Given the description of an element on the screen output the (x, y) to click on. 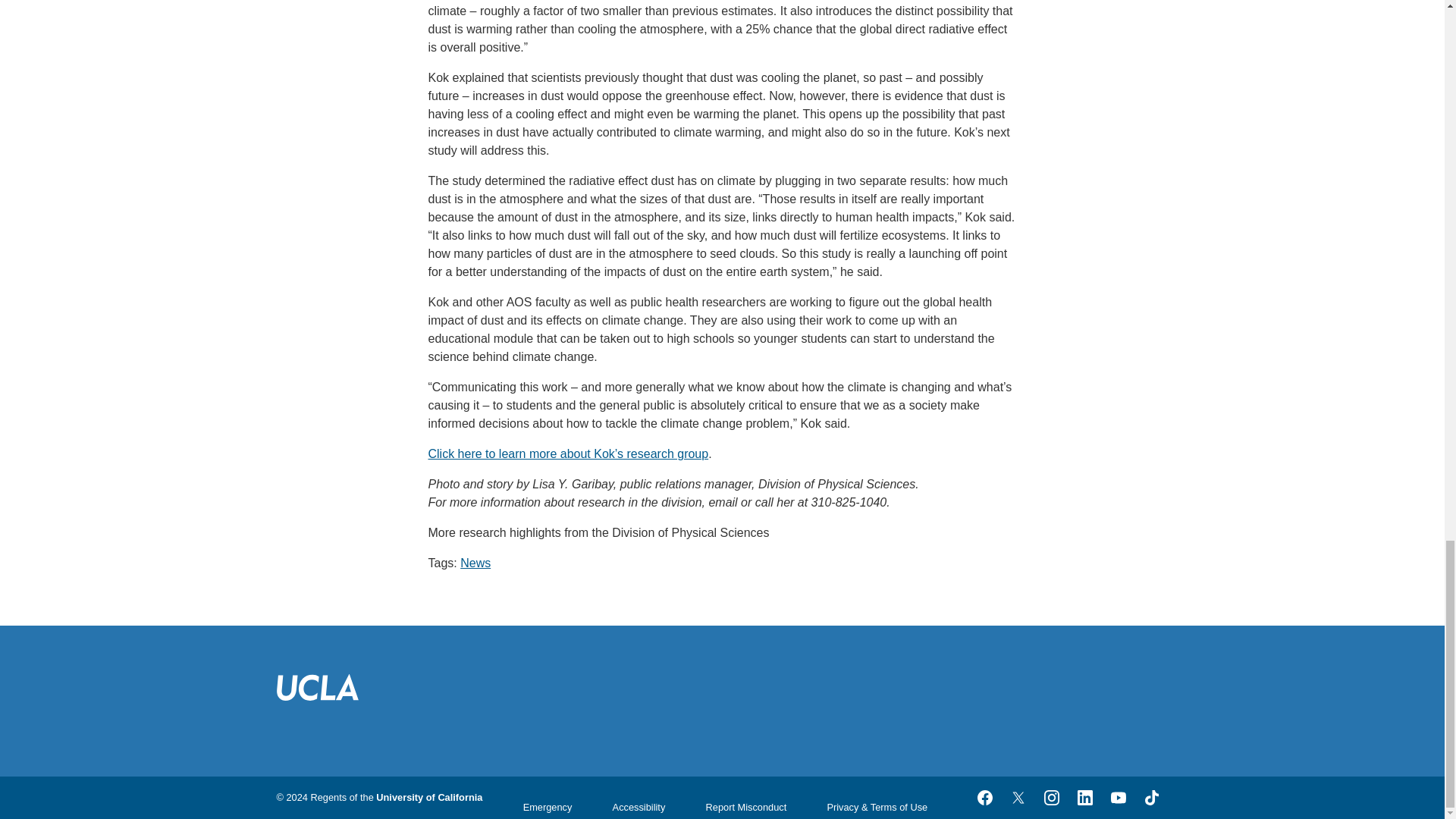
Accessibility (638, 807)
Emergency (547, 807)
Report Misconduct (746, 807)
Facebook (984, 797)
Twitter (1017, 797)
Instagram (1050, 797)
News (475, 562)
University of California (428, 797)
